Given the description of an element on the screen output the (x, y) to click on. 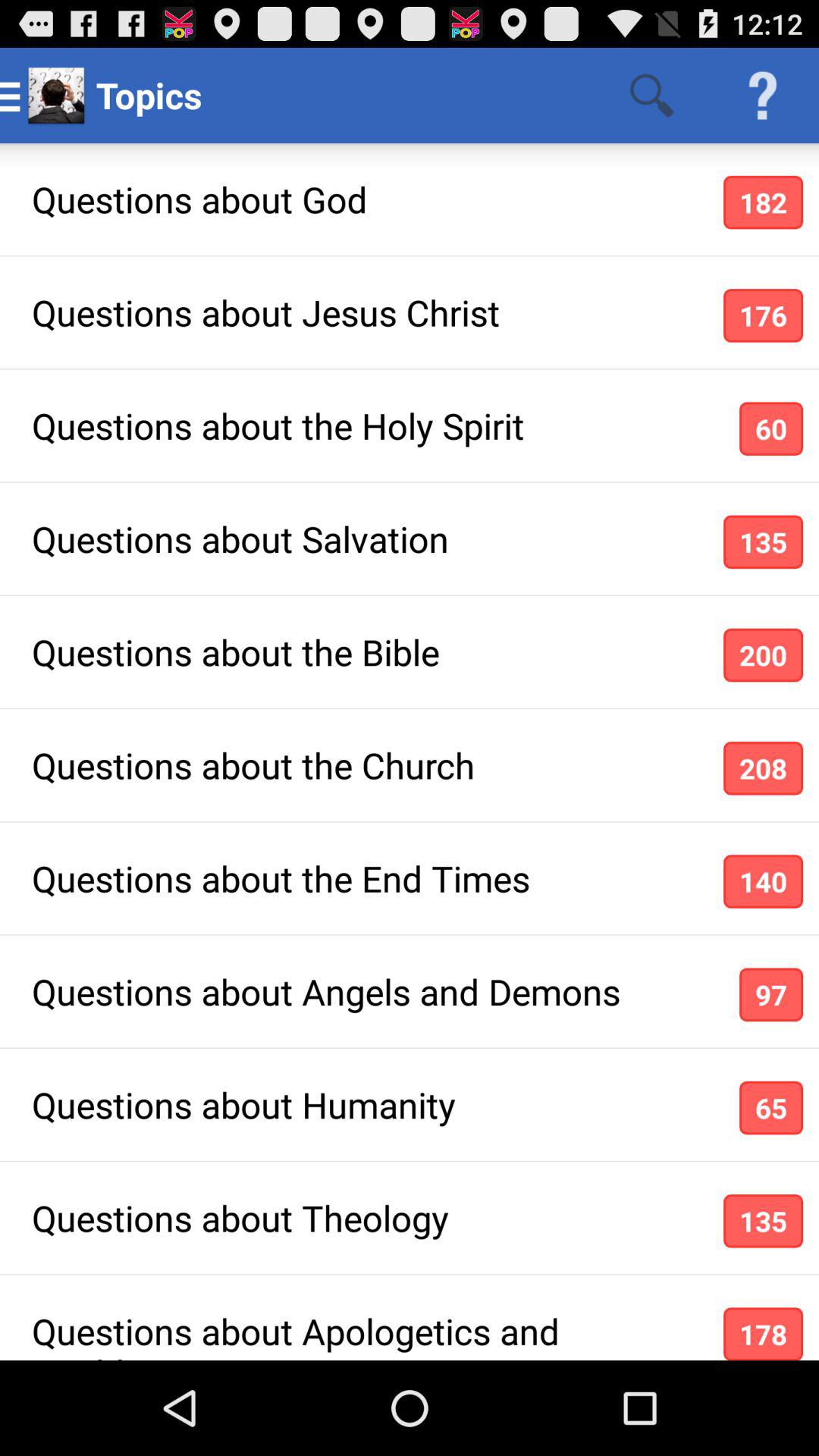
scroll to the 97 icon (771, 994)
